Given the description of an element on the screen output the (x, y) to click on. 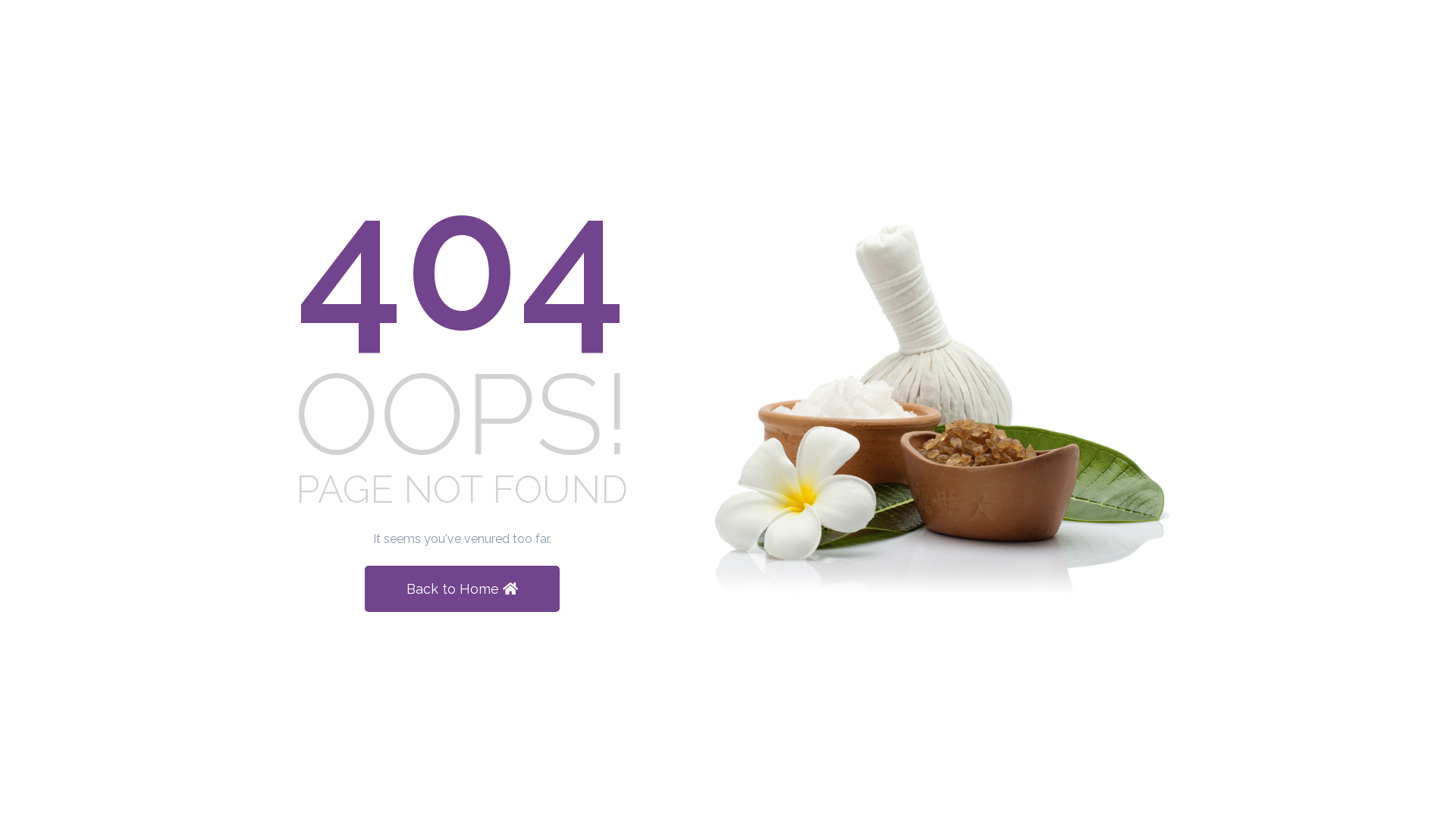
Back to Home Element type: text (461, 588)
